Given the description of an element on the screen output the (x, y) to click on. 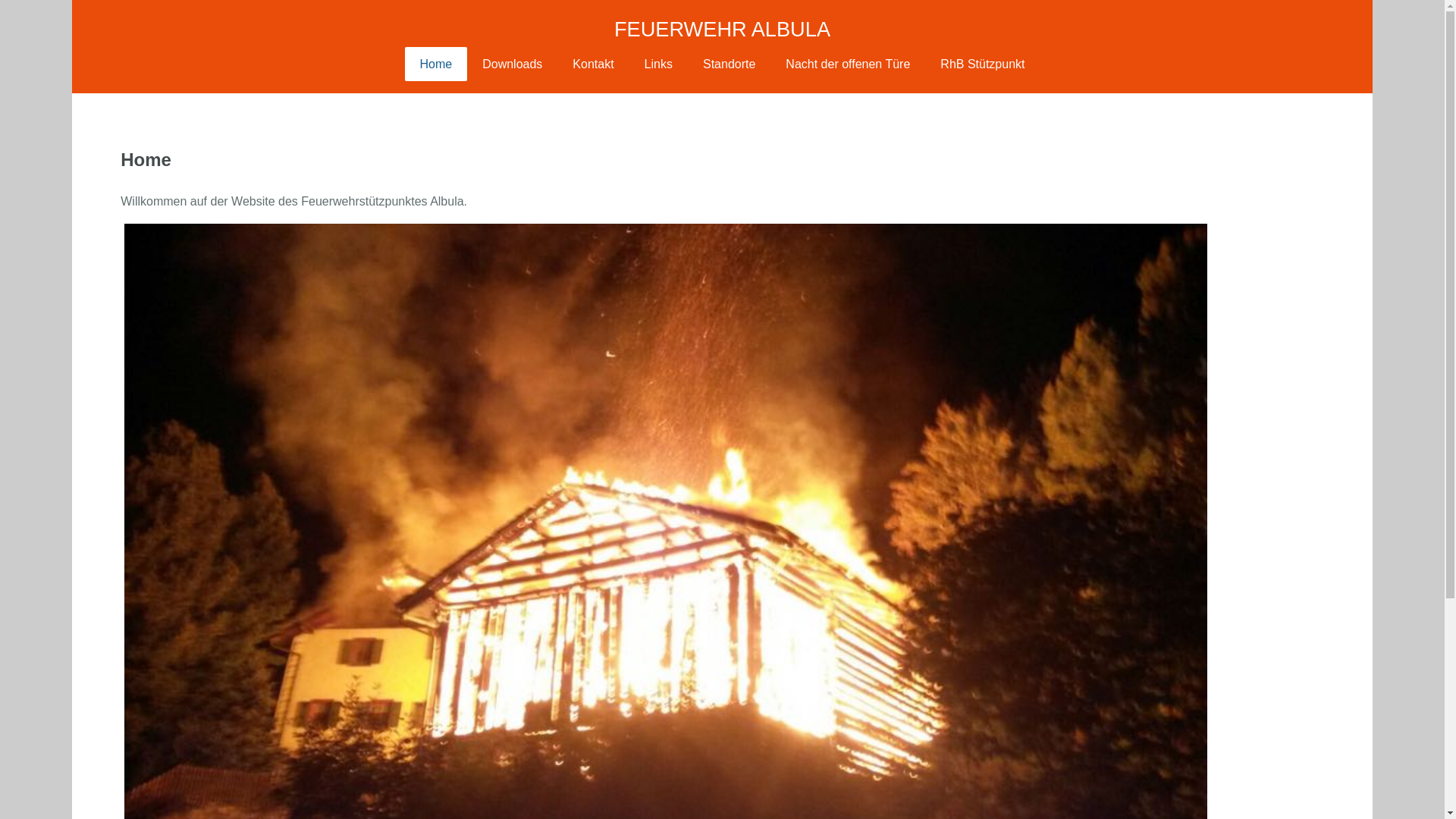
Standorte Element type: text (728, 64)
Home Element type: text (435, 64)
Links Element type: text (658, 64)
Kontakt Element type: text (592, 64)
Downloads Element type: text (512, 64)
FEUERWEHR ALBULA Element type: text (722, 28)
